Given the description of an element on the screen output the (x, y) to click on. 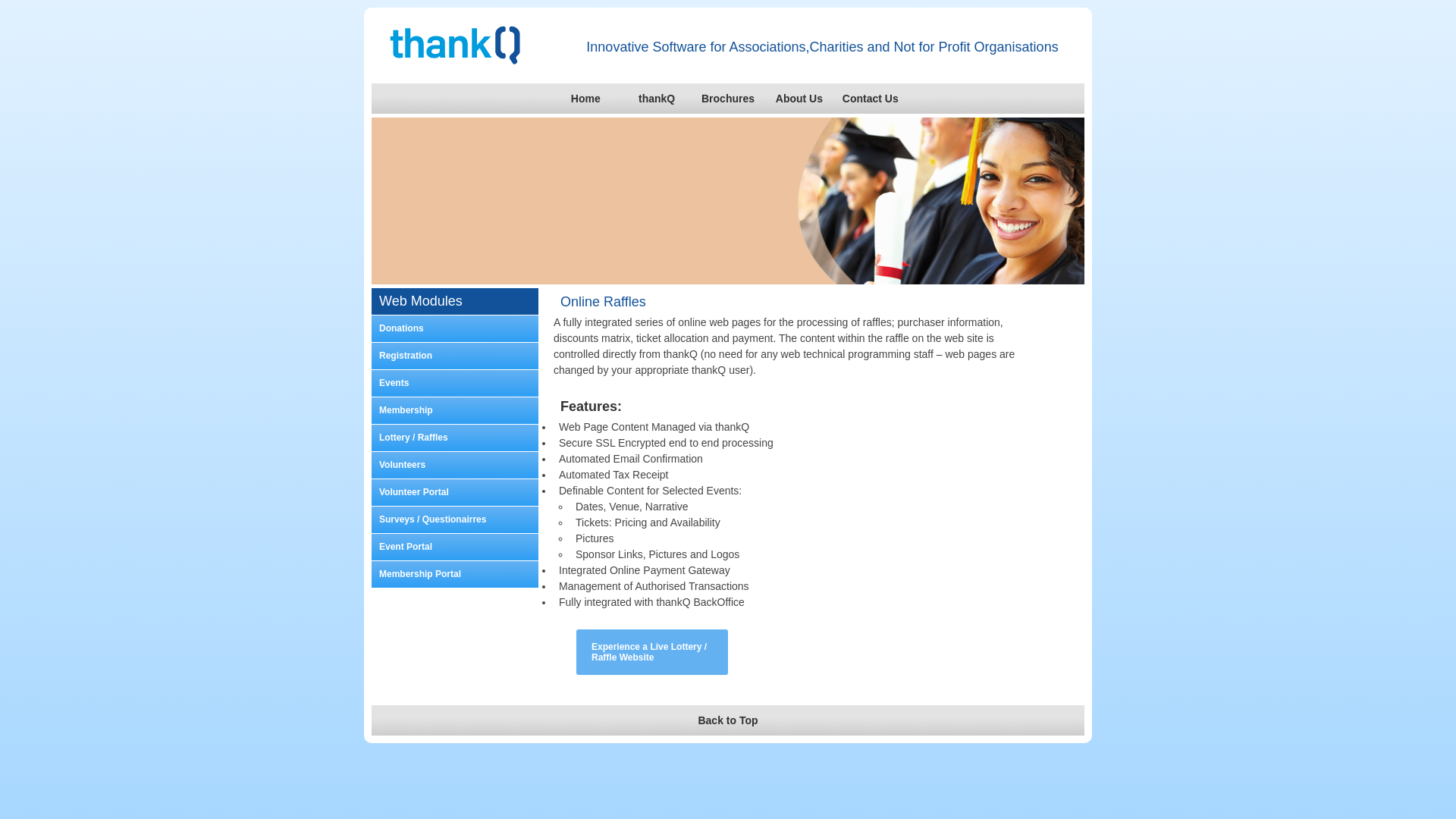
Membership Portal Element type: text (454, 574)
About Us Element type: text (798, 98)
Events Element type: text (454, 383)
2 Element type: text (742, 272)
thankQ Element type: text (656, 98)
Registration Element type: text (454, 355)
1 Element type: text (727, 272)
Membership Element type: text (454, 410)
Volunteers Element type: text (454, 464)
Contact Us Element type: text (870, 98)
Event Portal Element type: text (454, 546)
Experience a Live Lottery / Raffle Website Element type: text (651, 651)
Donations Element type: text (454, 328)
Back to Top Element type: text (727, 720)
Home Element type: text (585, 98)
Brochures Element type: text (727, 98)
Surveys / Questionairres Element type: text (454, 519)
Volunteer Portal Element type: text (454, 492)
Lottery / Raffles Element type: text (454, 437)
0 Element type: text (712, 272)
